Given the description of an element on the screen output the (x, y) to click on. 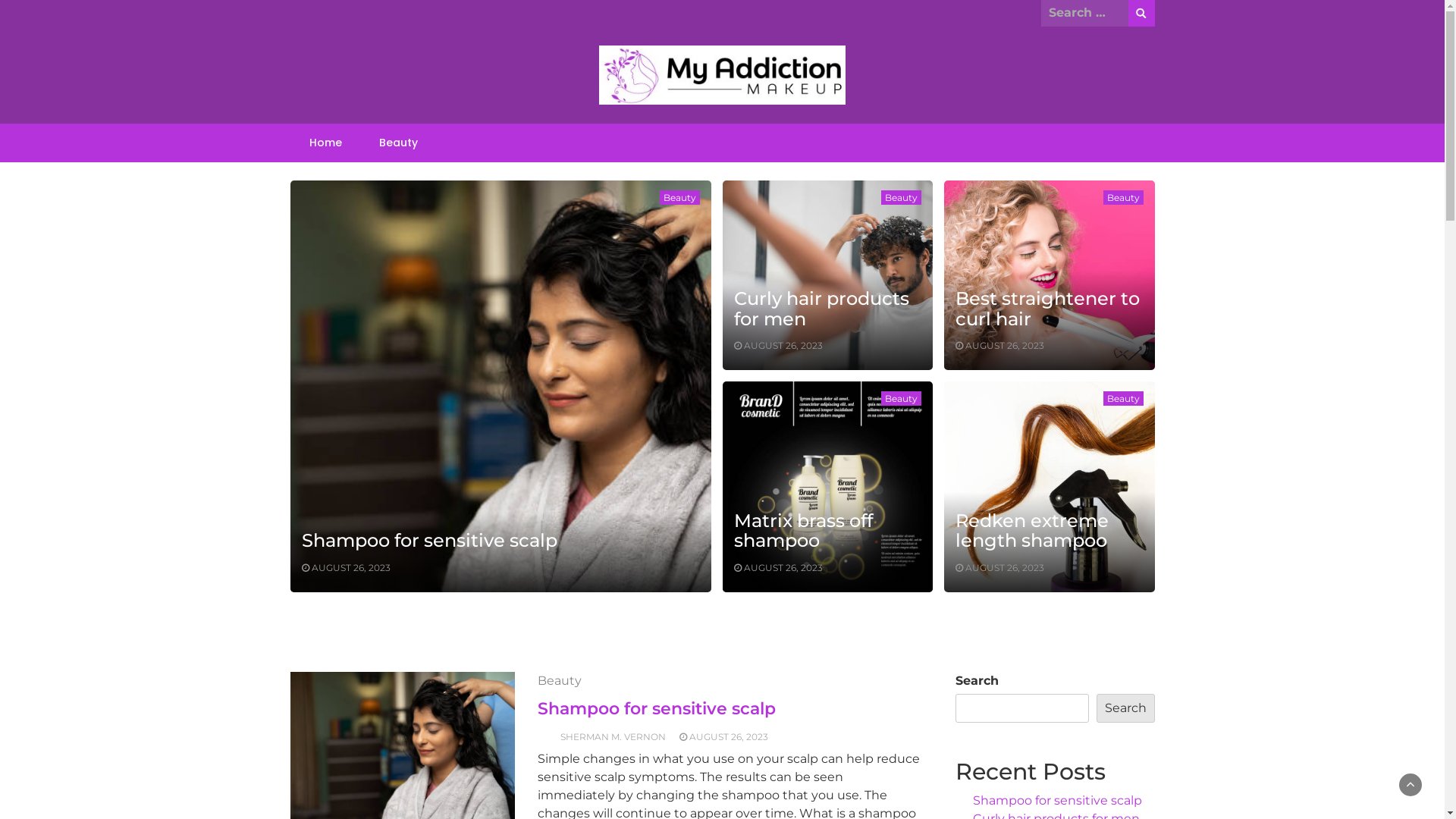
Beauty Element type: text (1122, 398)
Beauty Element type: text (398, 142)
Curly hair products for men Element type: text (821, 308)
AUGUST 26, 2023 Element type: text (782, 345)
Shampoo for sensitive scalp Element type: text (656, 707)
AUGUST 26, 2023 Element type: text (349, 566)
Shampoo for sensitive scalp Element type: text (429, 540)
AUGUST 26, 2023 Element type: text (1004, 566)
Beauty Element type: text (901, 197)
Search for: Element type: hover (1083, 12)
AUGUST 26, 2023 Element type: text (728, 736)
Matrix brass off shampoo Element type: text (803, 530)
Search Element type: text (1125, 707)
Best straightener to curl hair Element type: text (1047, 308)
Shampoo for sensitive scalp Element type: text (1057, 800)
Beauty Element type: text (1122, 197)
SHERMAN M. VERNON Element type: text (612, 736)
AUGUST 26, 2023 Element type: text (1004, 345)
Beauty Element type: text (679, 197)
AUGUST 26, 2023 Element type: text (782, 566)
Redken extreme length shampoo Element type: text (1031, 530)
Search Element type: text (1141, 13)
Beauty Element type: text (901, 398)
Home Element type: text (325, 142)
Beauty Element type: text (559, 680)
